Given the description of an element on the screen output the (x, y) to click on. 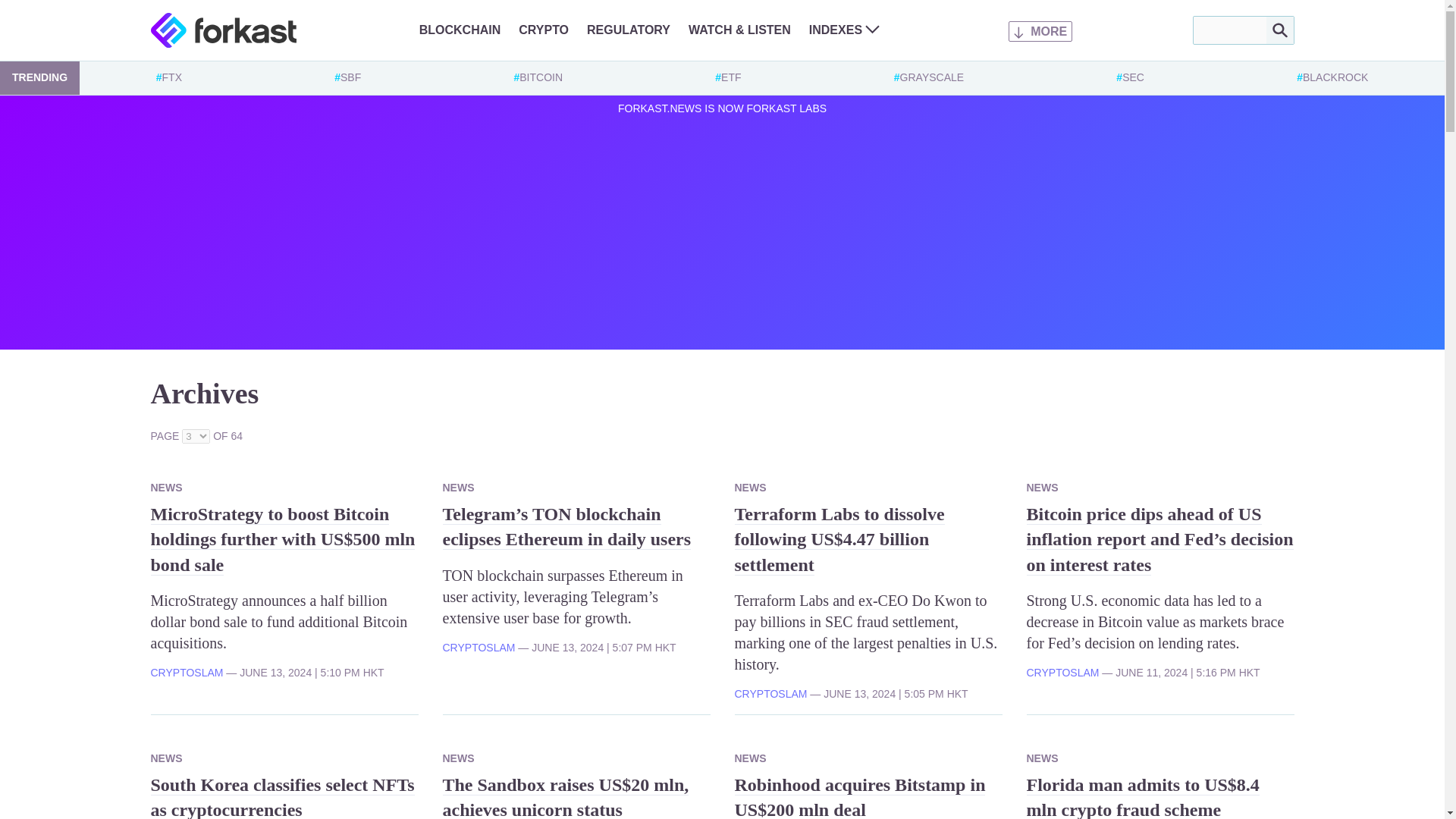
Posts by CryptoSlam (1062, 672)
REGULATORY (627, 29)
CRYPTO (543, 29)
Posts by CryptoSlam (478, 647)
Posts by CryptoSlam (769, 693)
BLOCKCHAIN (459, 29)
Posts by CryptoSlam (185, 672)
INDEXES (844, 29)
